Given the description of an element on the screen output the (x, y) to click on. 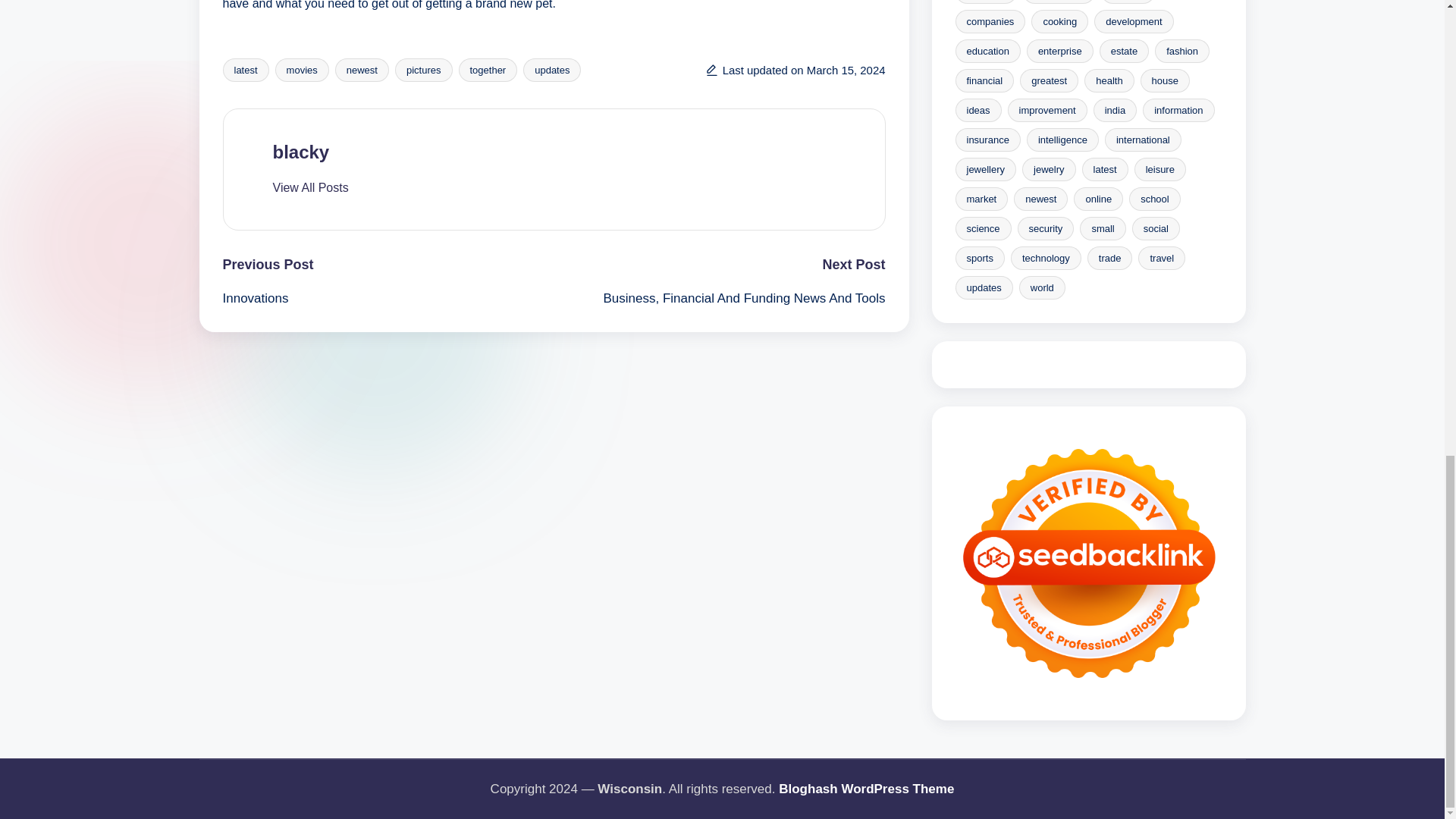
Innovations (388, 298)
View All Posts (311, 187)
updates (551, 69)
newest (361, 69)
pictures (423, 69)
Business, Financial And Funding News And Tools (719, 298)
latest (245, 69)
together (487, 69)
blacky (301, 151)
movies (302, 69)
Seedbacklink (1089, 562)
